Given the description of an element on the screen output the (x, y) to click on. 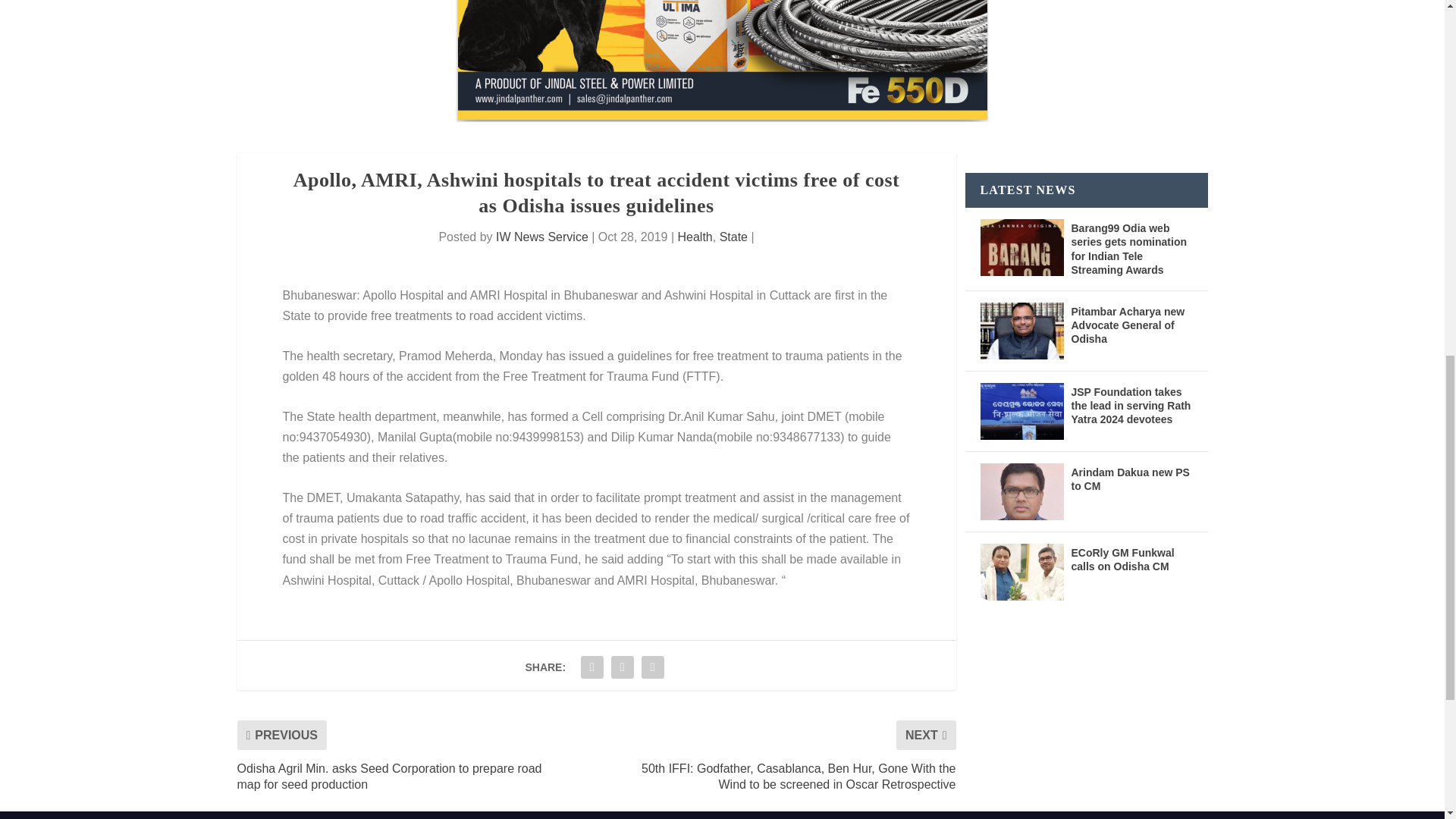
Posts by IW News Service (542, 236)
Pitambar Acharya new Advocate General of Odisha (1020, 330)
